Given the description of an element on the screen output the (x, y) to click on. 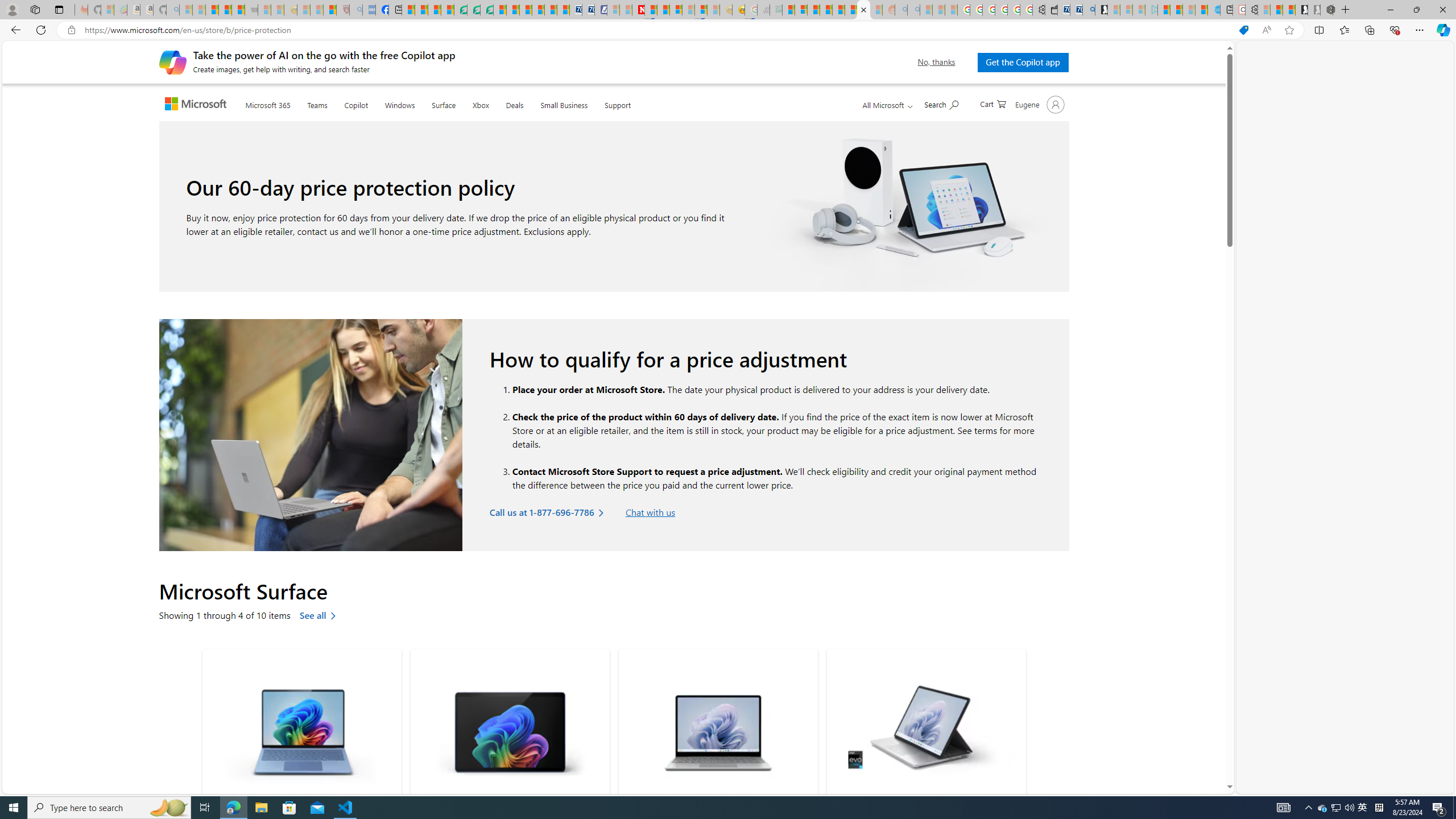
Copilot (355, 103)
Account manager for Eugene (1037, 103)
Cheap Hotels - Save70.com (587, 9)
Get the Copilot app  (1022, 62)
No, thanks (936, 62)
Create images, get help with writing, and search faster (172, 62)
Support (617, 103)
Microsoft Word - consumer-privacy address update 2.2021 (486, 9)
Small Business (563, 103)
